Given the description of an element on the screen output the (x, y) to click on. 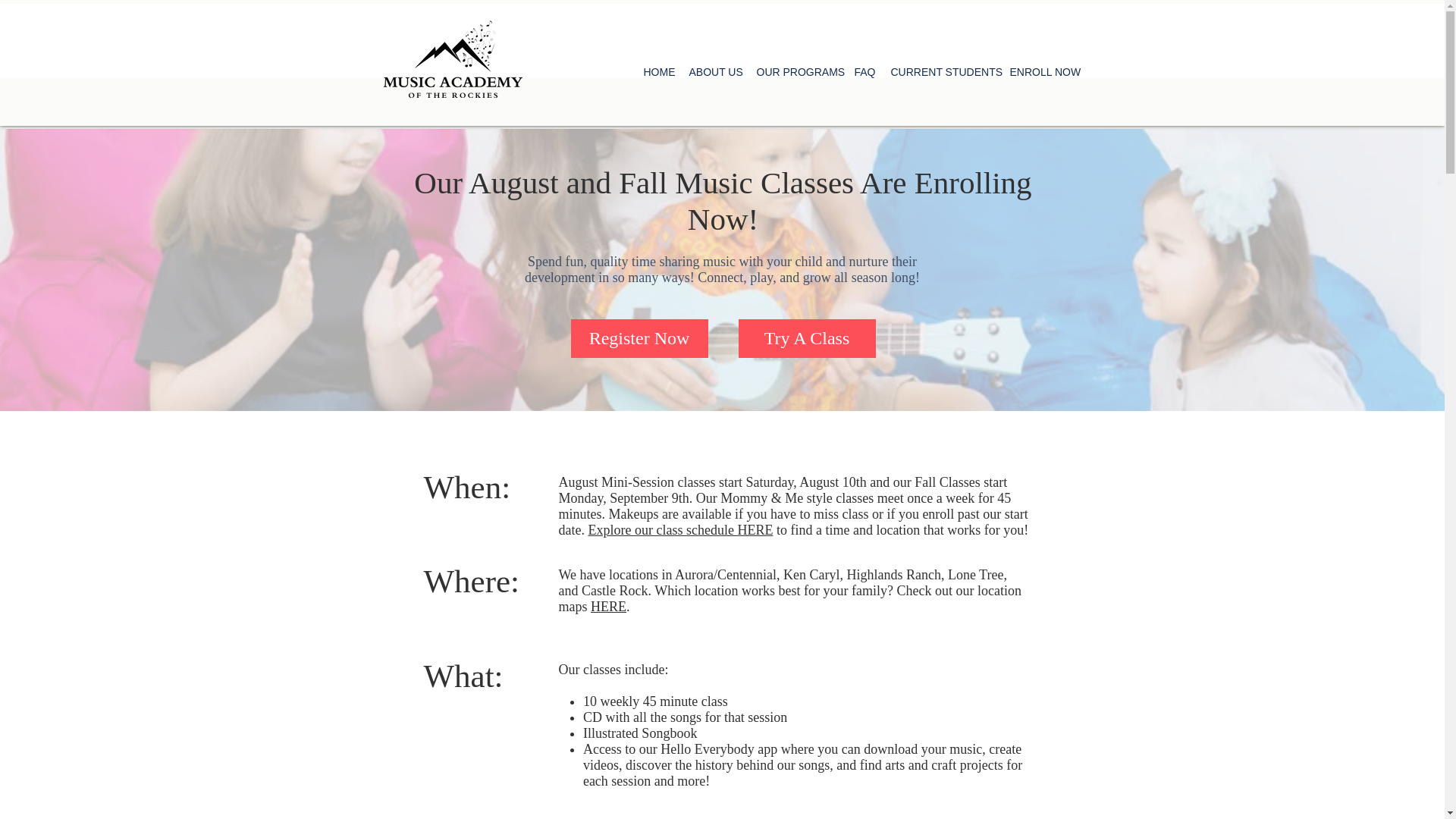
HOME (657, 71)
Register Now (638, 338)
HERE (608, 606)
CURRENT STUDENTS (941, 71)
Try A Class (807, 338)
Explore our class schedule HERE (680, 529)
FAQ (863, 71)
ABOUT US (714, 71)
ENROLL NOW (1043, 71)
